Given the description of an element on the screen output the (x, y) to click on. 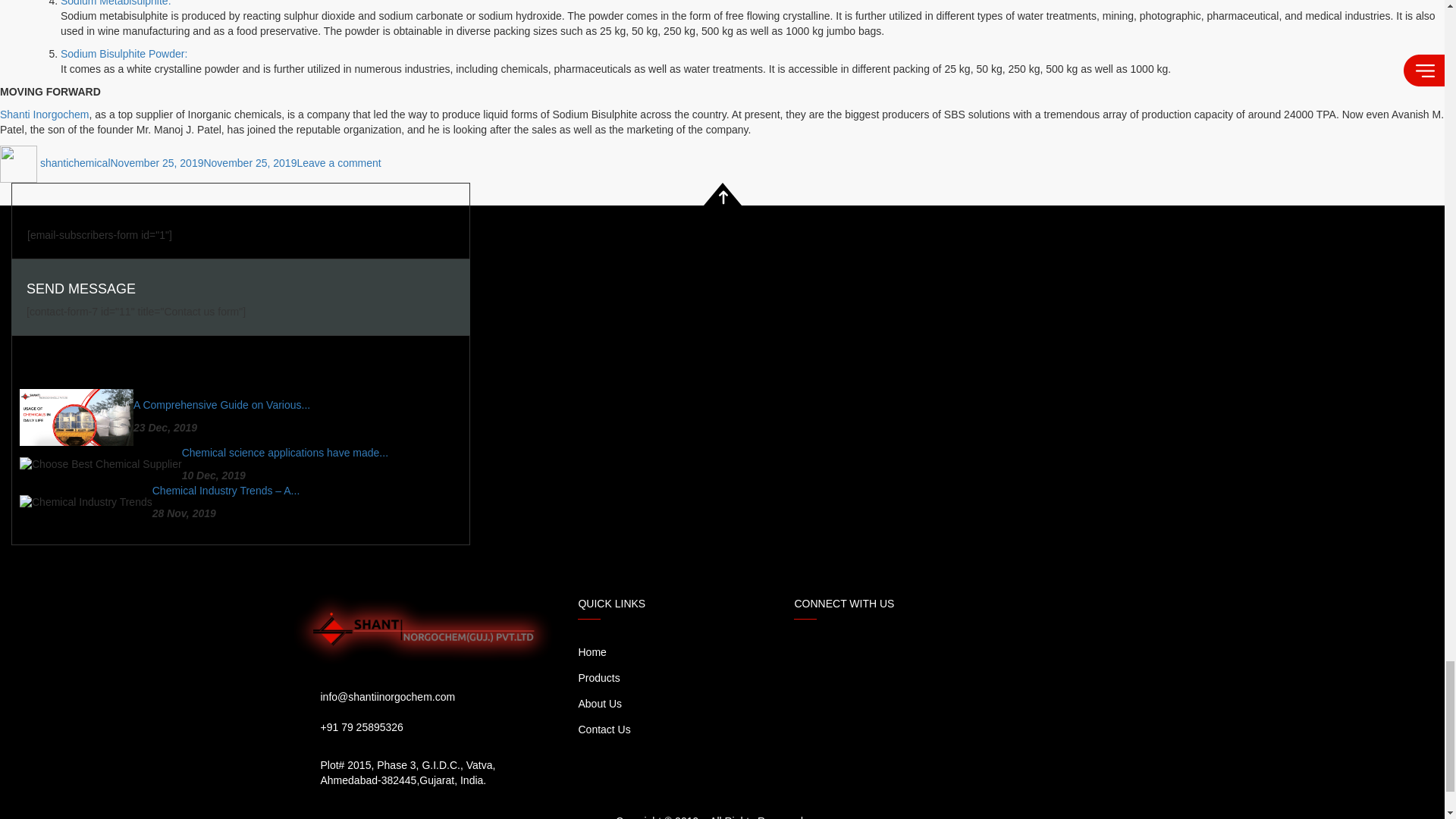
How to Choose Ideal Chemical Supplier? (285, 452)
Chemical science applications have made... (338, 162)
Sodium Metabisulphite: (285, 452)
Use of Chemicals in Everyday Life (116, 3)
A Comprehensive Guide on Various... (221, 404)
Shanti Inorgochem (221, 404)
November 25, 2019November 25, 2019 (44, 114)
Sodium Bisulphite Powder: (203, 162)
Current Global Chemical Industry Trends (124, 53)
